Given the description of an element on the screen output the (x, y) to click on. 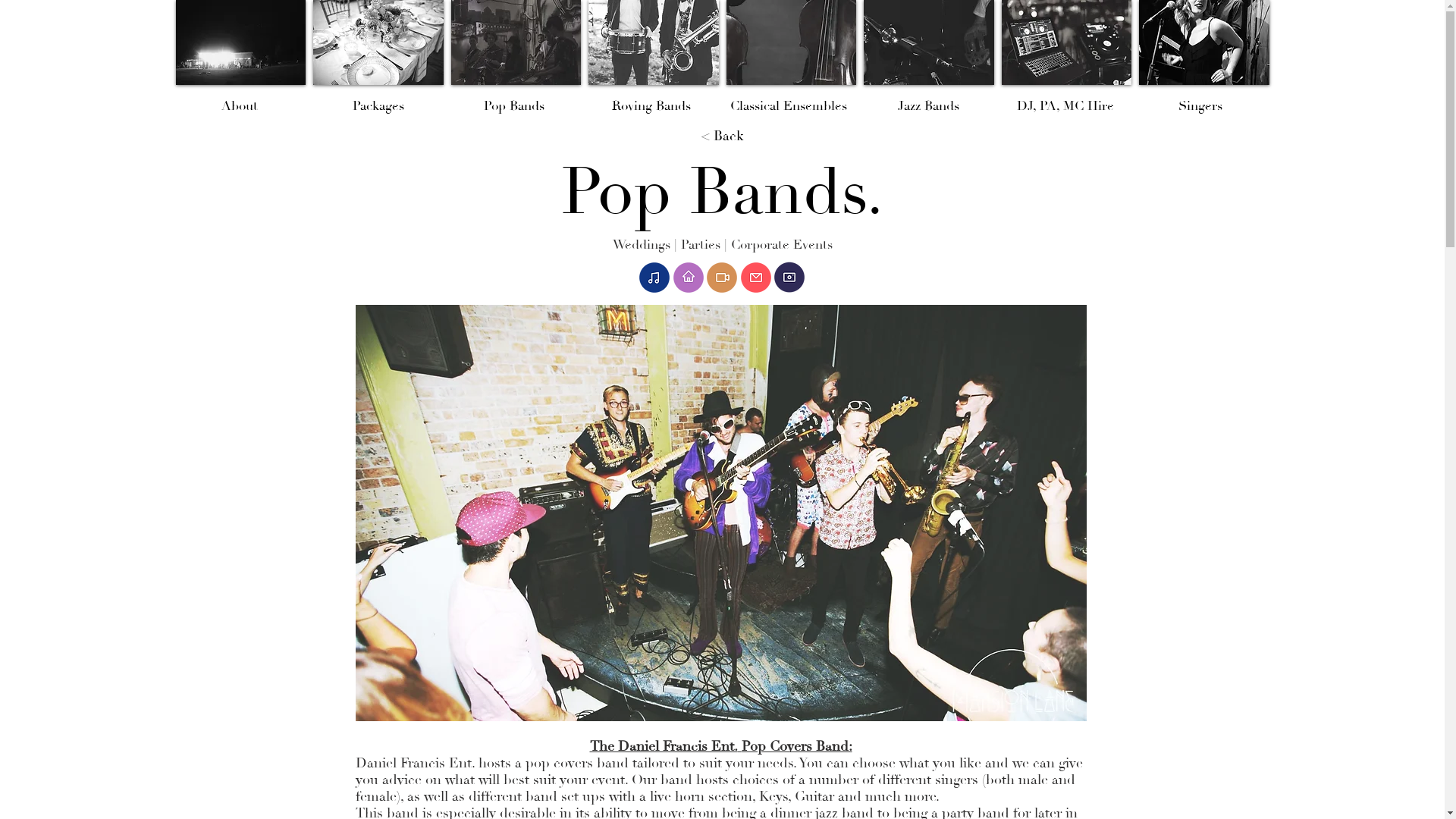
Jazz Bands Element type: text (928, 106)
Pop Bands Element type: text (514, 106)
About.jpg Element type: hover (719, 512)
< Back Element type: text (722, 136)
Packages Element type: text (377, 106)
DJ, PA, MC Hire Element type: text (1065, 106)
Roving Bands Element type: text (650, 106)
Classical Ensembles Element type: text (787, 106)
About Element type: text (239, 106)
Singers Element type: text (1199, 106)
